Given the description of an element on the screen output the (x, y) to click on. 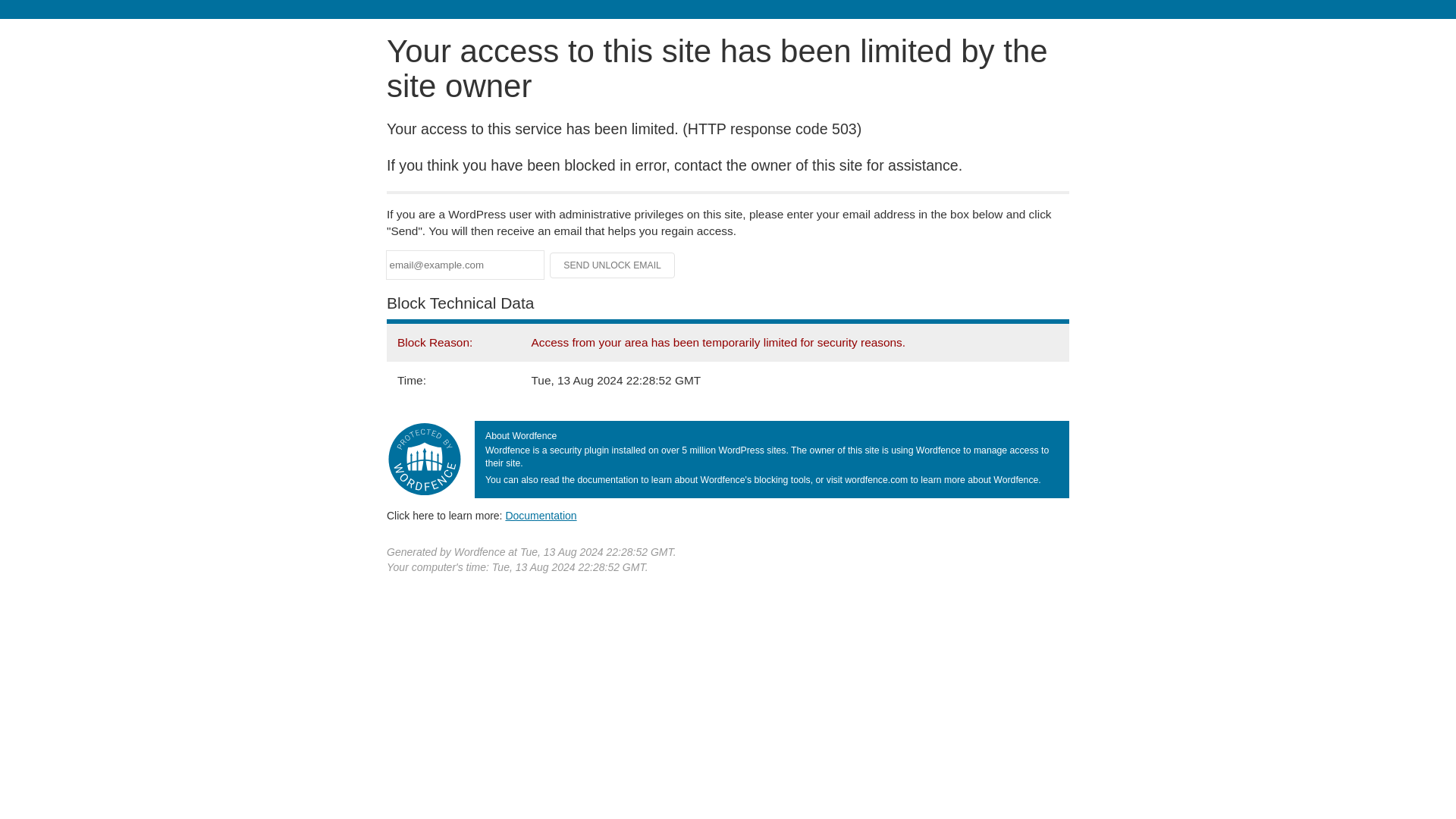
Send Unlock Email (612, 265)
Documentation (540, 515)
Send Unlock Email (612, 265)
